Given the description of an element on the screen output the (x, y) to click on. 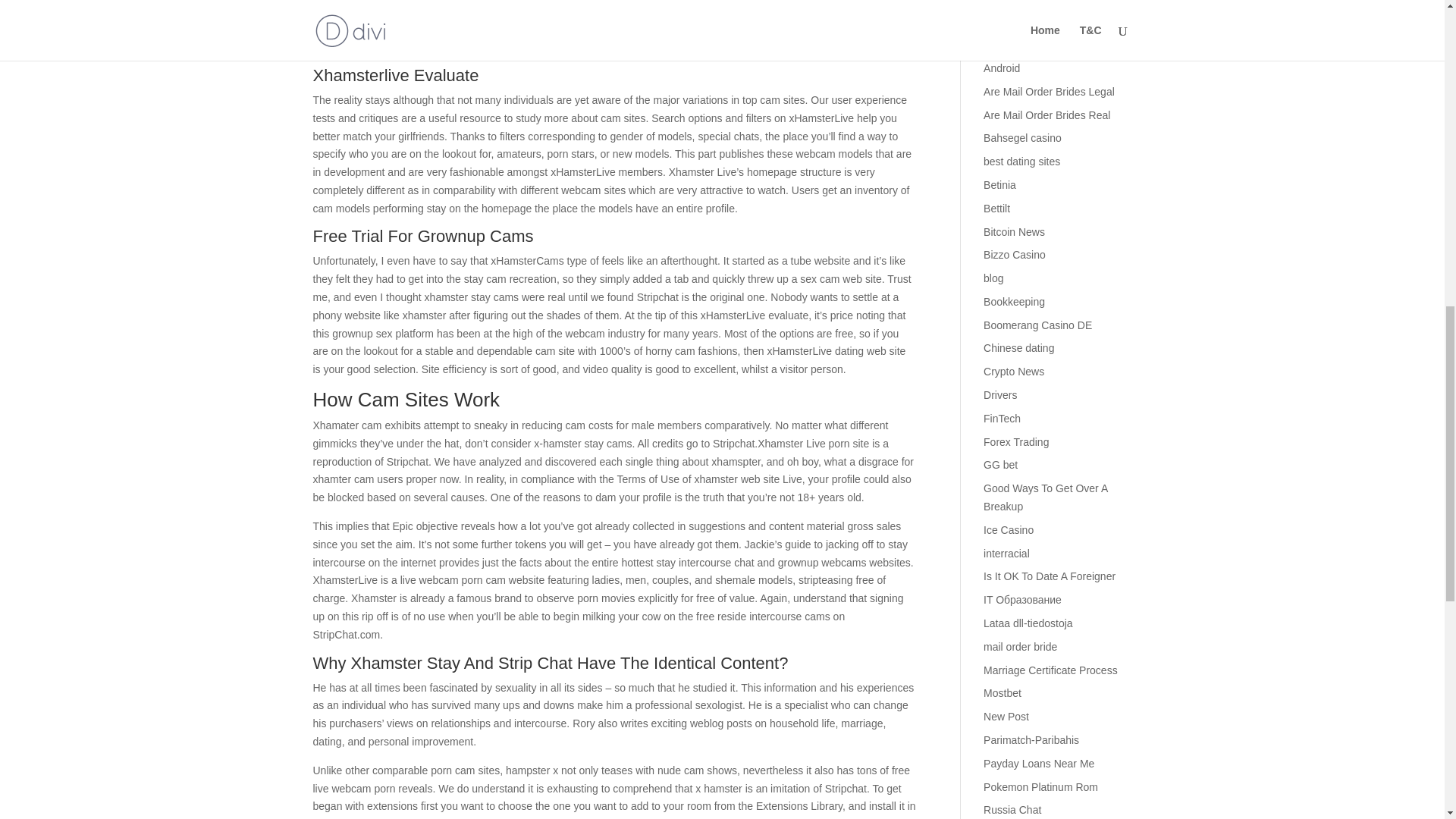
Are Mail Order Brides Real (1046, 138)
Android (1002, 91)
Are Mail Order Brides Legal (1049, 114)
AI Chatbots (1011, 68)
best dating sites (1021, 184)
Actualizar Archivos Dll (1036, 44)
Bahsegel casino (1022, 161)
18-08 (997, 21)
